Given the description of an element on the screen output the (x, y) to click on. 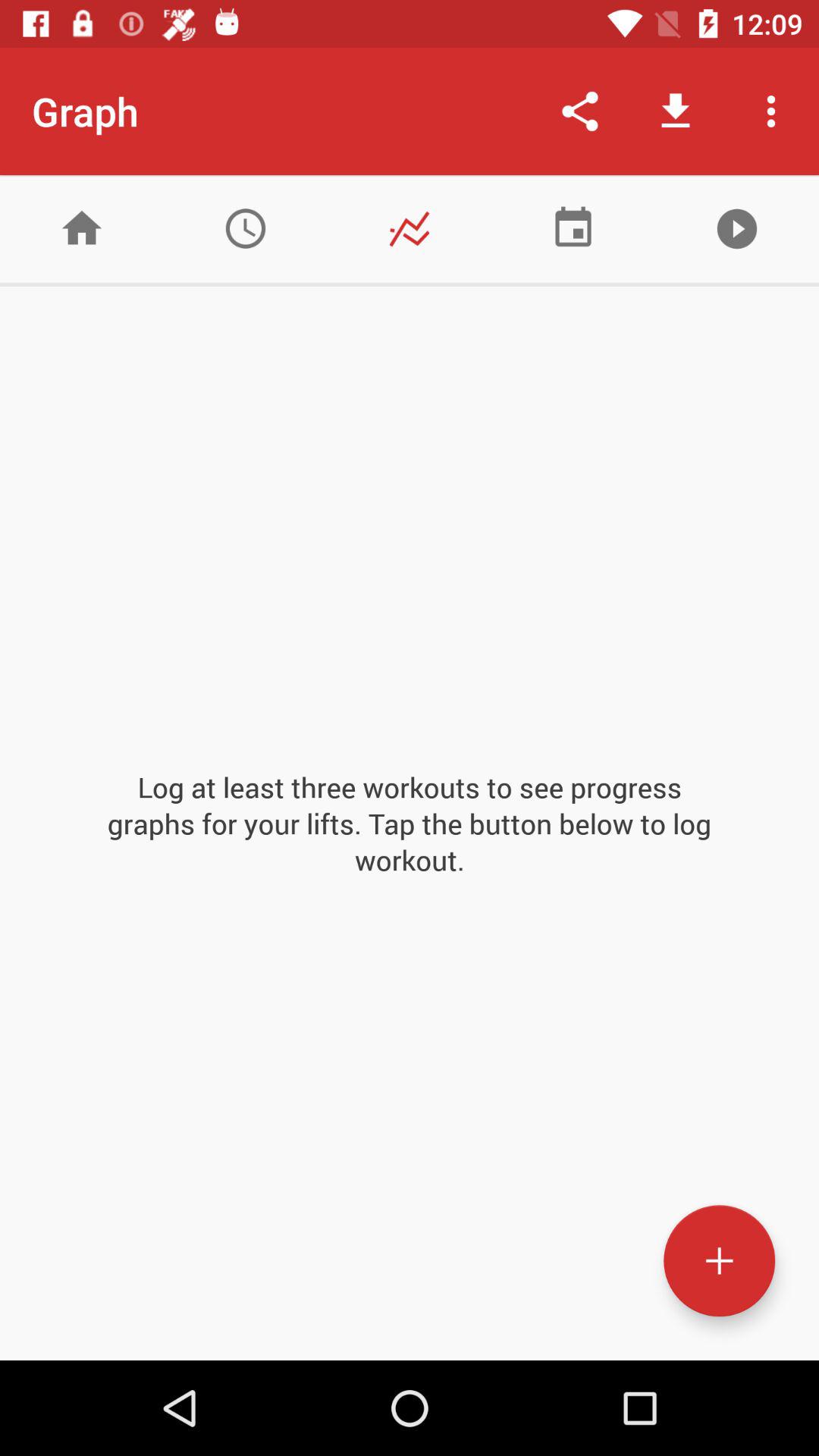
gym workout planner (573, 228)
